Given the description of an element on the screen output the (x, y) to click on. 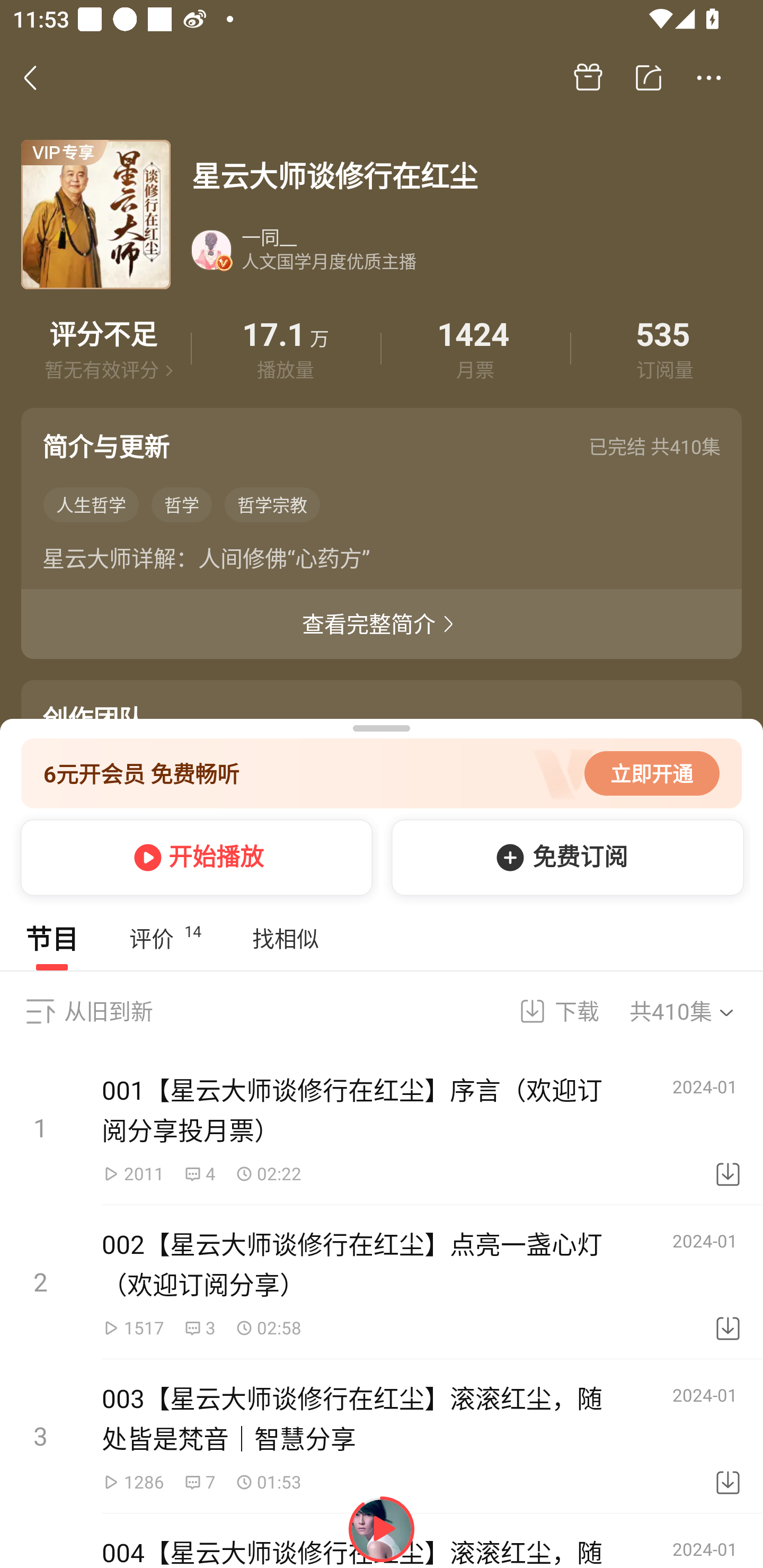
返回 (40, 77)
买赠 (587, 78)
分享 (648, 78)
更多 (709, 78)
星云大师谈修行在红尘 (466, 175)
一同__ 人文国学月度优质主播 (465, 249)
评价 (103, 348)
人生哲学 (90, 504)
哲学 (181, 504)
哲学宗教 (271, 504)
星云大师详解：人间修佛“心药方” (381, 561)
查看完整简介 (381, 623)
开始播放 (193, 857)
免费订阅 (564, 857)
节目 (51, 938)
评价  14 (164, 938)
找相似 (285, 938)
排序，从旧到新 (40, 1011)
从旧到新 (108, 1011)
下载 (546, 1011)
共410集 选集，共410集 (693, 1011)
下载 (728, 1127)
下载 (728, 1282)
下载 (728, 1436)
继续播放Alpha-橘子海OrangeOcean (381, 1529)
4 004【星云大师谈修行在红尘】滚滚红尘，随处皆是梵音｜人生道场 2024-01 下载 (381, 1540)
